Given the description of an element on the screen output the (x, y) to click on. 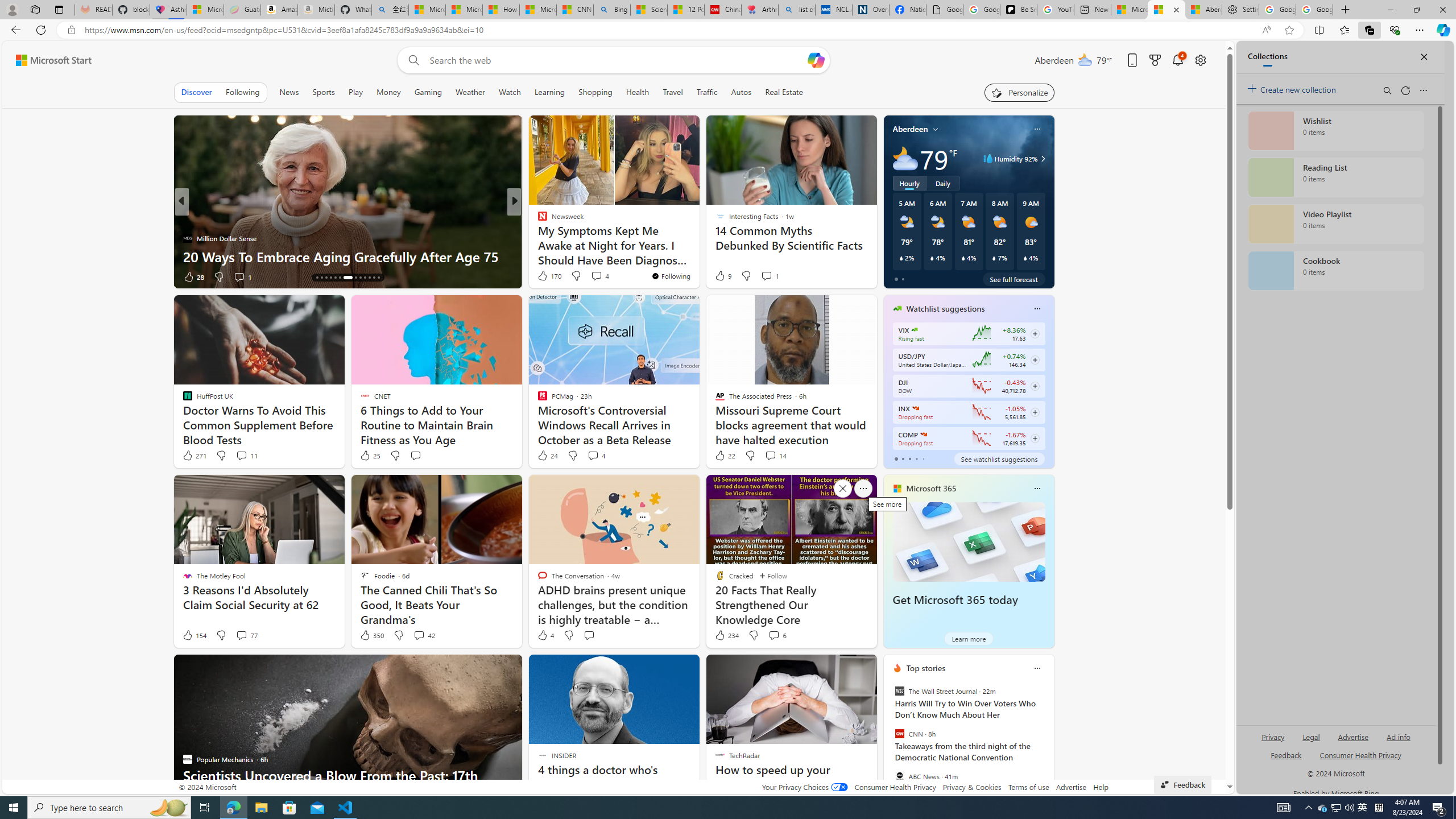
154 Like (193, 634)
Class: weather-arrow-glyph (1043, 158)
View comments 11 Comment (246, 455)
271 Like (193, 455)
next (1047, 741)
